Given the description of an element on the screen output the (x, y) to click on. 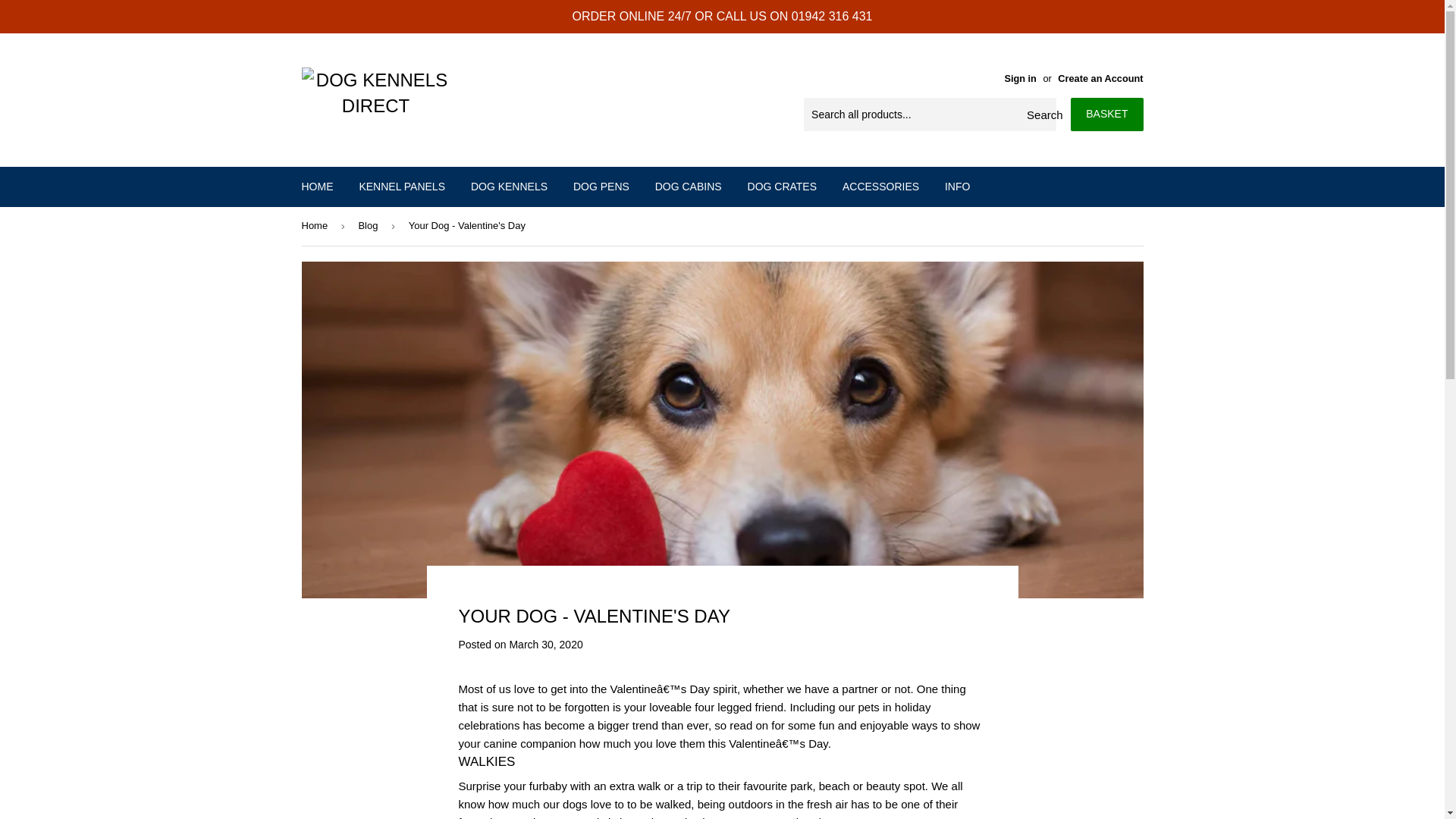
Sign in (1020, 78)
Create an Account (1100, 78)
BASKET (1106, 114)
Search (1039, 115)
